Given the description of an element on the screen output the (x, y) to click on. 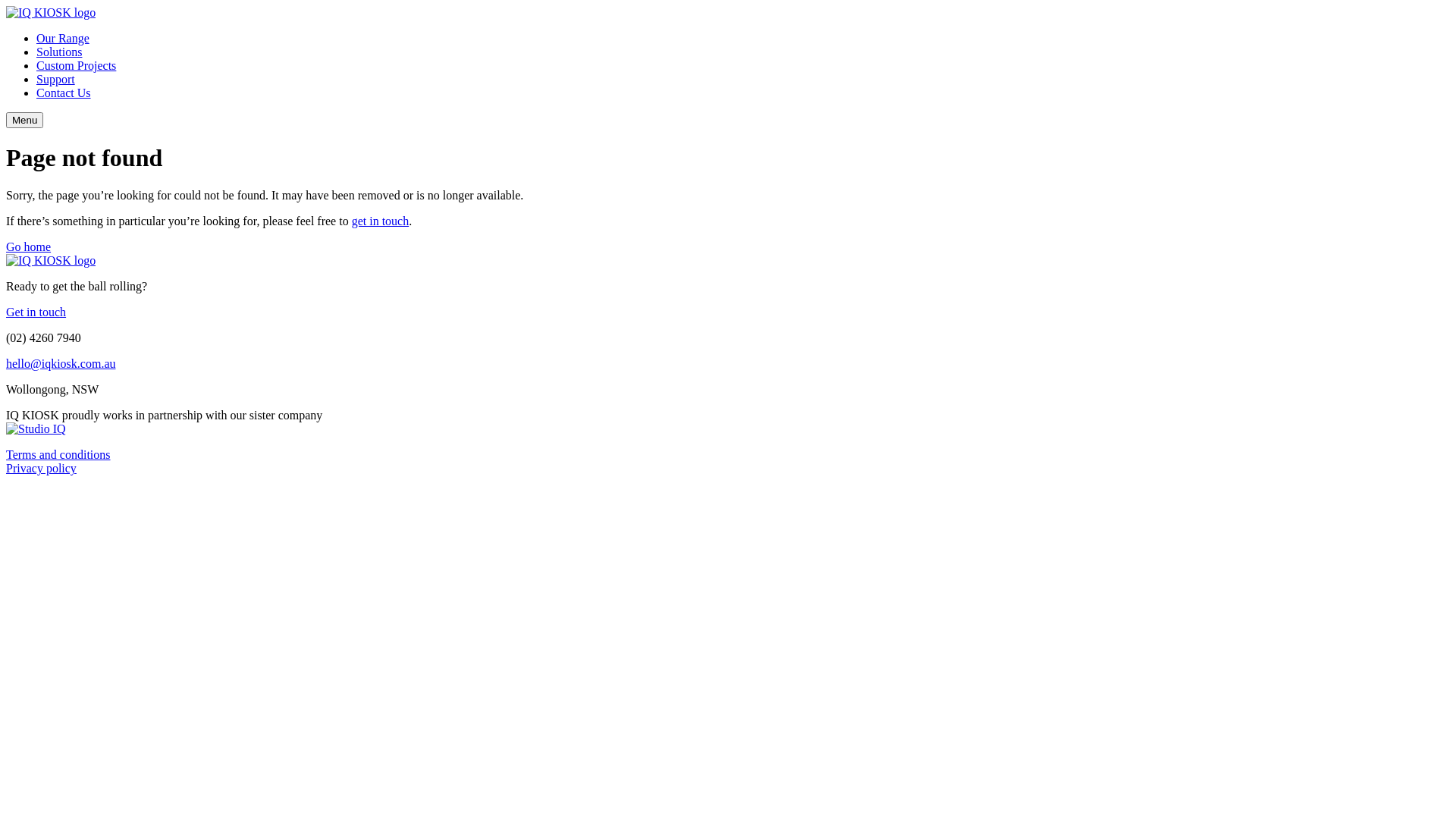
Contact Us Element type: text (63, 92)
Menu Element type: text (24, 120)
hello@iqkiosk.com.au Element type: text (61, 363)
Solutions Element type: text (58, 51)
Get in touch Element type: text (35, 311)
get in touch Element type: text (380, 220)
Custom Projects Element type: text (76, 65)
Go home Element type: text (28, 246)
Terms and conditions Element type: text (58, 454)
Our Range Element type: text (62, 37)
Privacy policy Element type: text (41, 467)
Support Element type: text (55, 78)
